Given the description of an element on the screen output the (x, y) to click on. 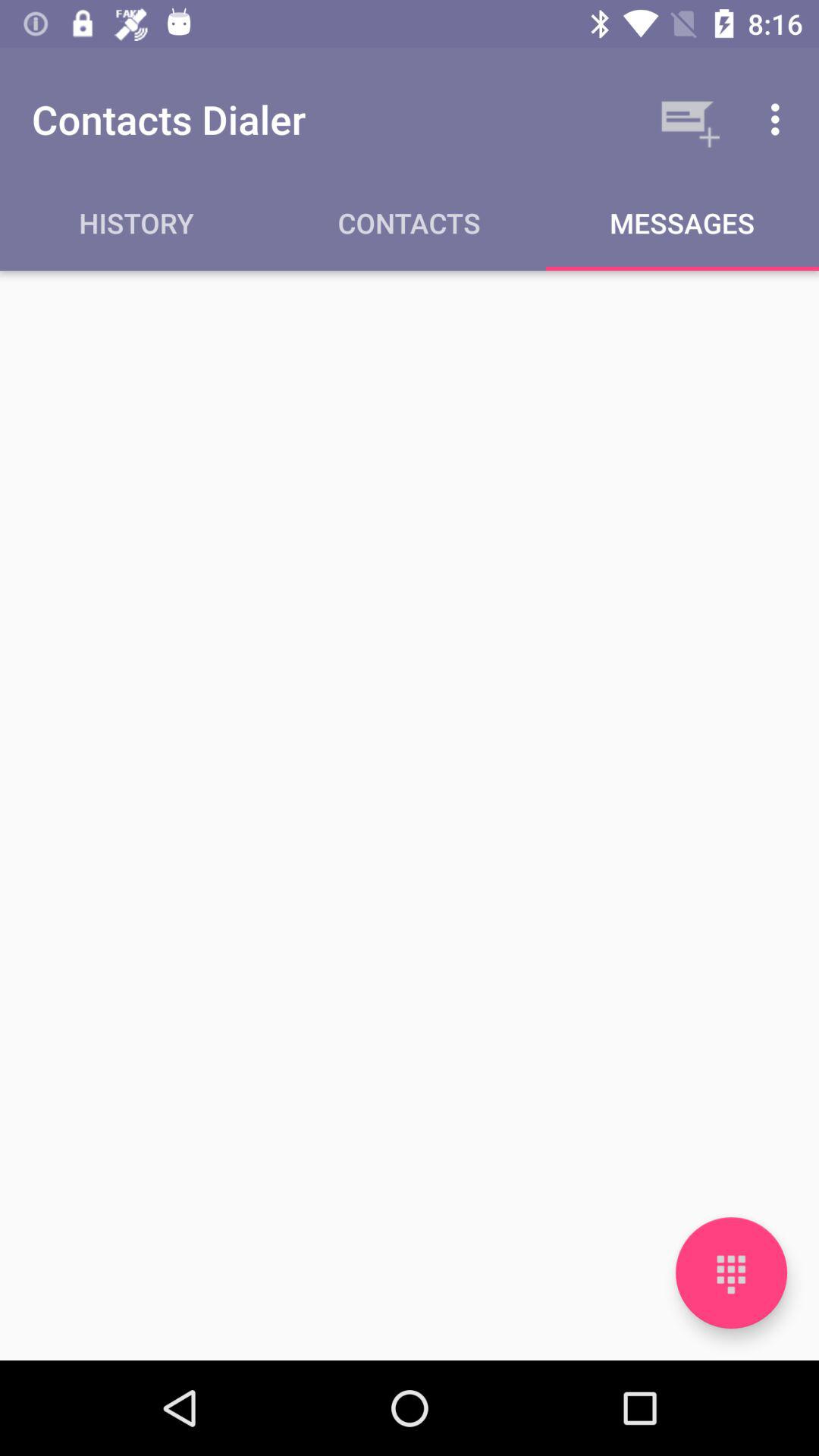
press the item at the bottom right corner (731, 1272)
